Given the description of an element on the screen output the (x, y) to click on. 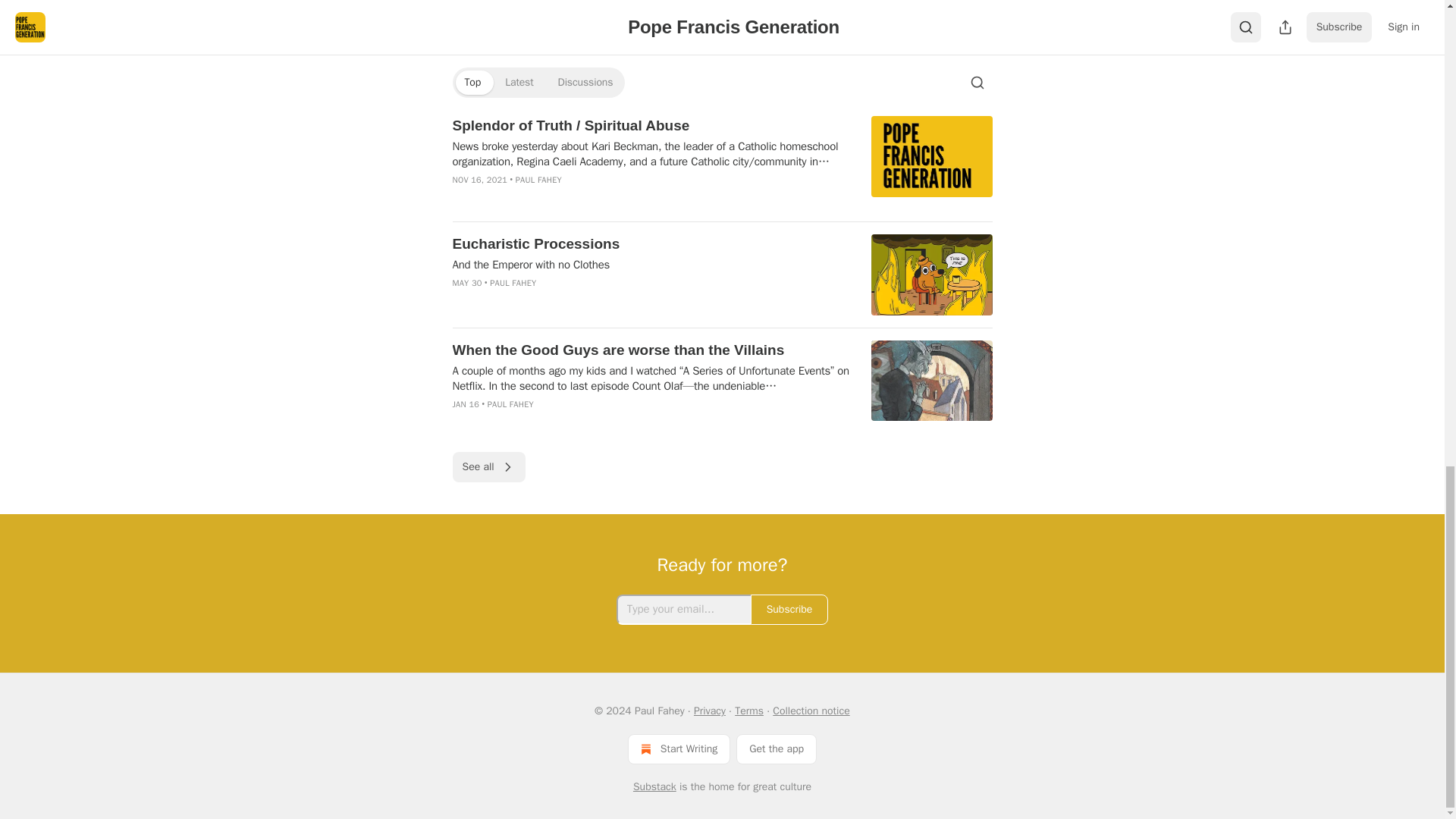
Top (471, 82)
